Given the description of an element on the screen output the (x, y) to click on. 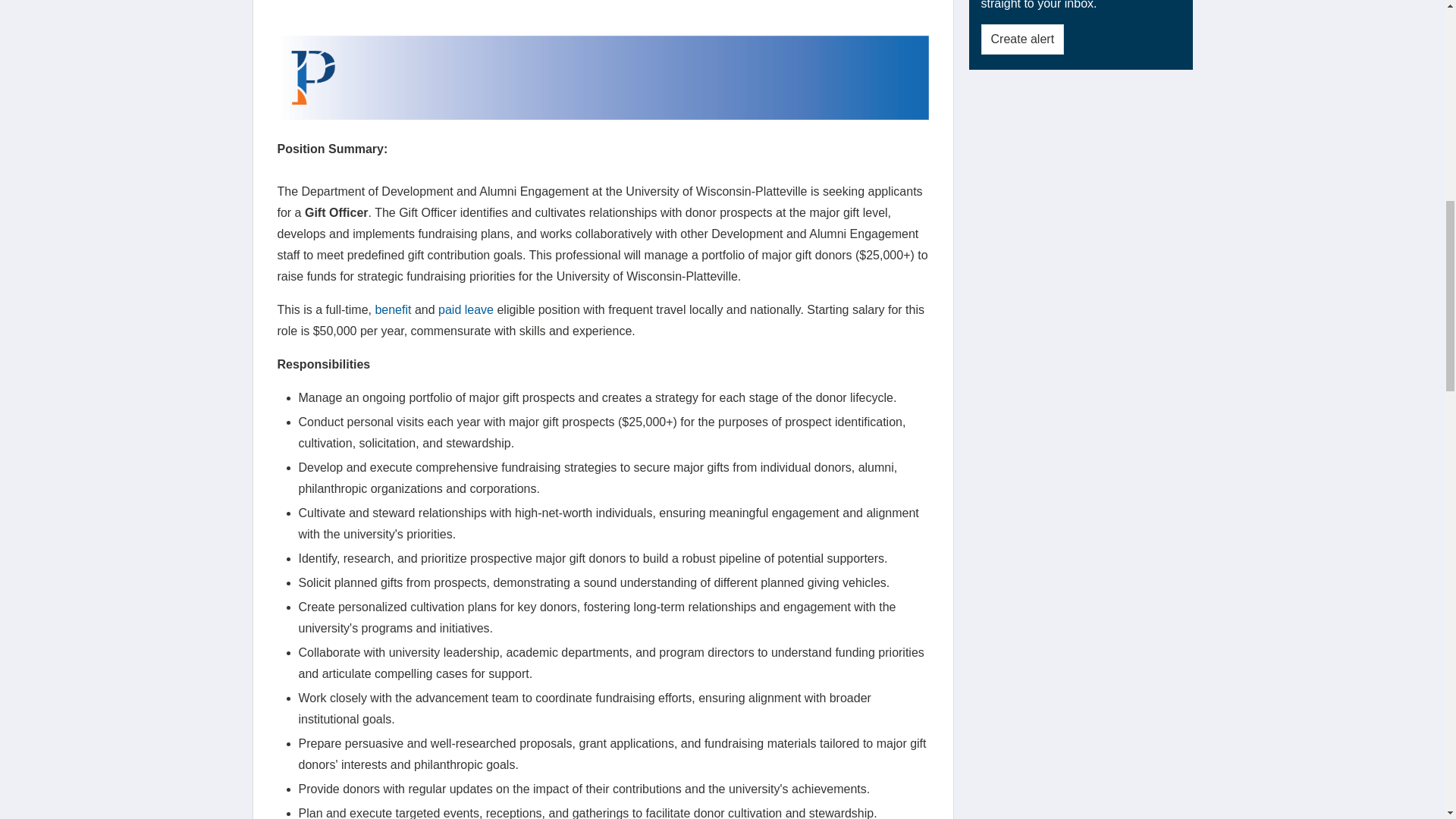
paid leave (465, 309)
benefit (392, 309)
